Given the description of an element on the screen output the (x, y) to click on. 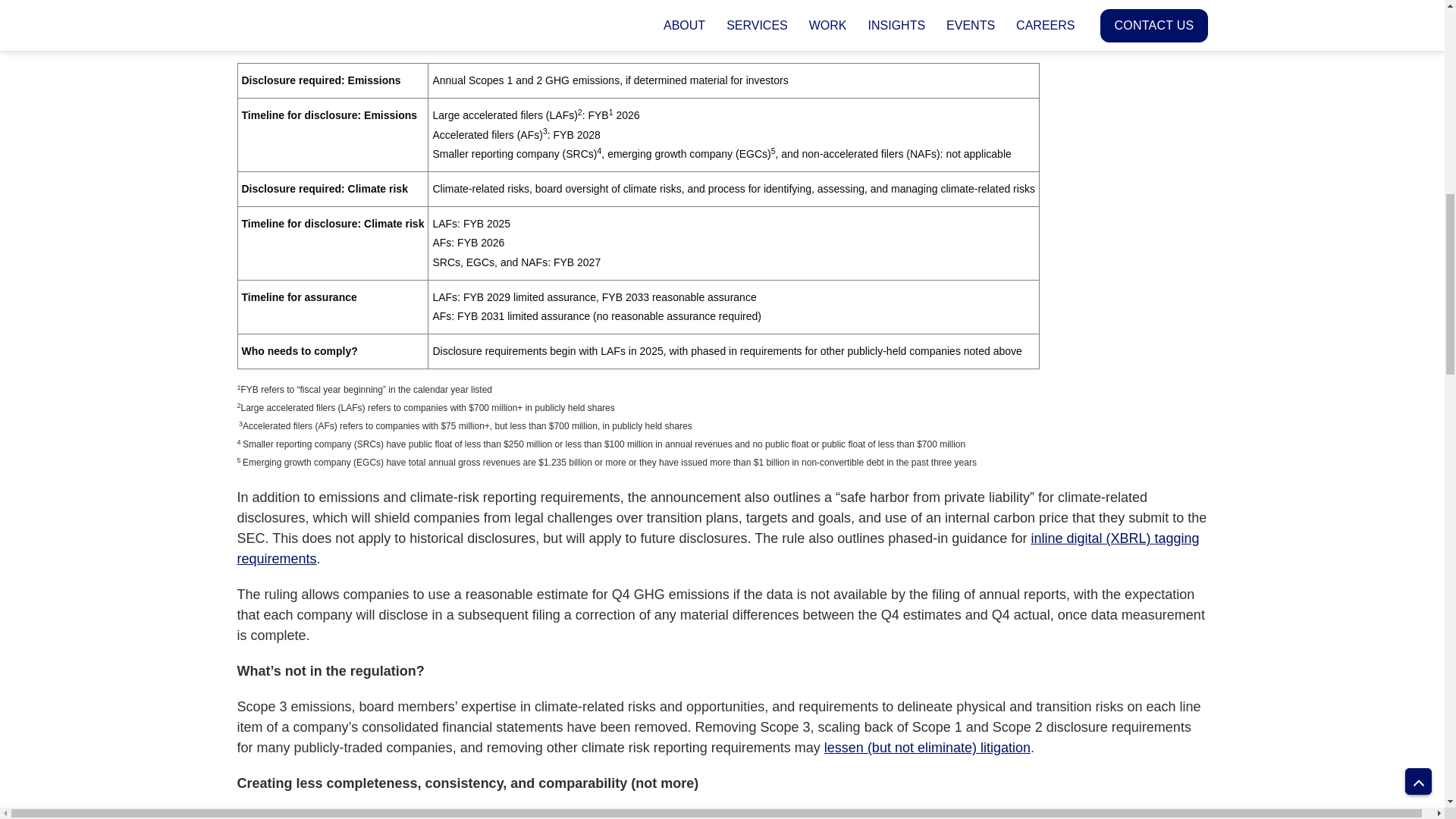
SEC announced its decision (411, 16)
